Given the description of an element on the screen output the (x, y) to click on. 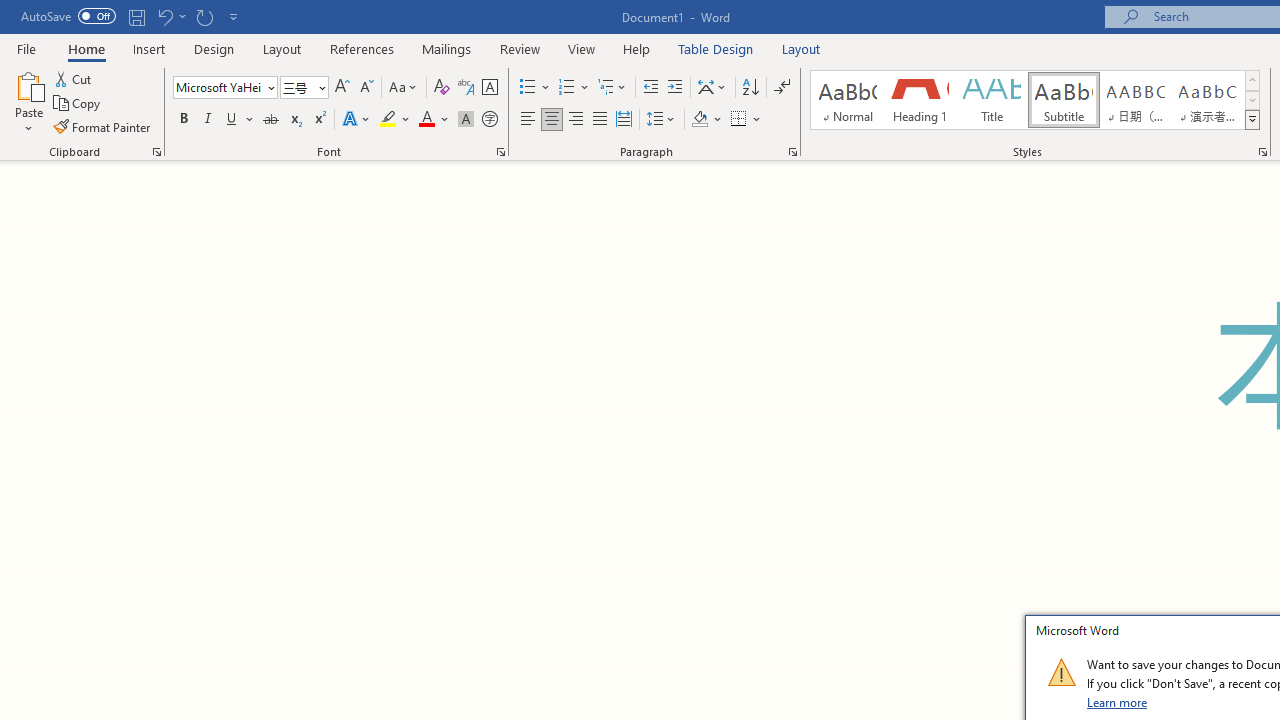
Line and Paragraph Spacing (661, 119)
Font Color Red (426, 119)
Quick Access Toolbar (131, 16)
Clear Formatting (442, 87)
Learn more (1118, 702)
Title (991, 100)
File Tab (26, 48)
Font Color (434, 119)
Design (214, 48)
Format Painter (103, 126)
Italic (207, 119)
Copy (78, 103)
Borders (739, 119)
Change Case (404, 87)
